Given the description of an element on the screen output the (x, y) to click on. 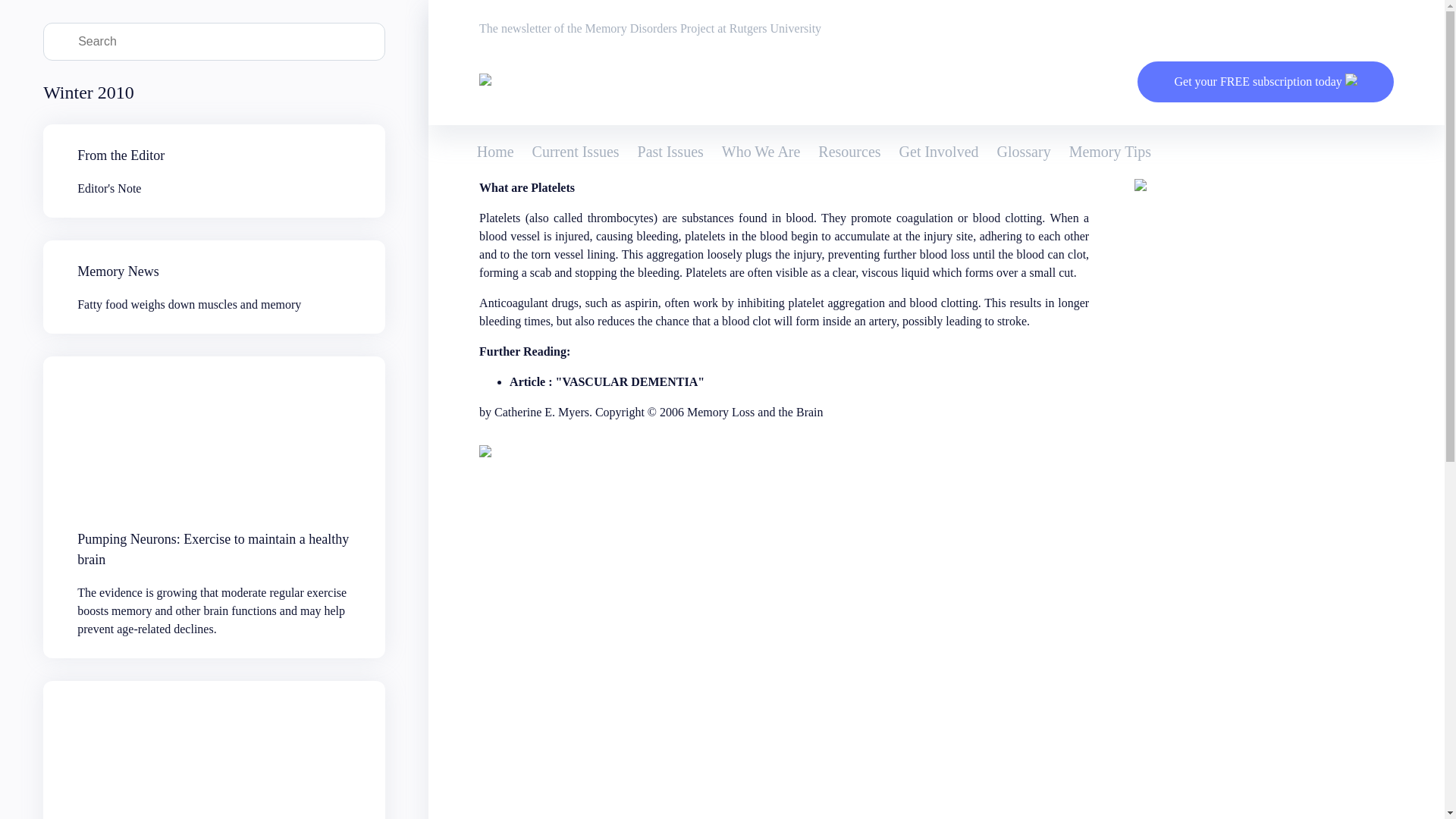
Home (495, 151)
Glossary (1024, 151)
Get Involved (938, 151)
Current Issues (576, 151)
Past Issues (670, 151)
Who We Are (761, 151)
Memory Tips (1109, 151)
Resources (214, 286)
Get your FREE subscription today (849, 151)
